Given the description of an element on the screen output the (x, y) to click on. 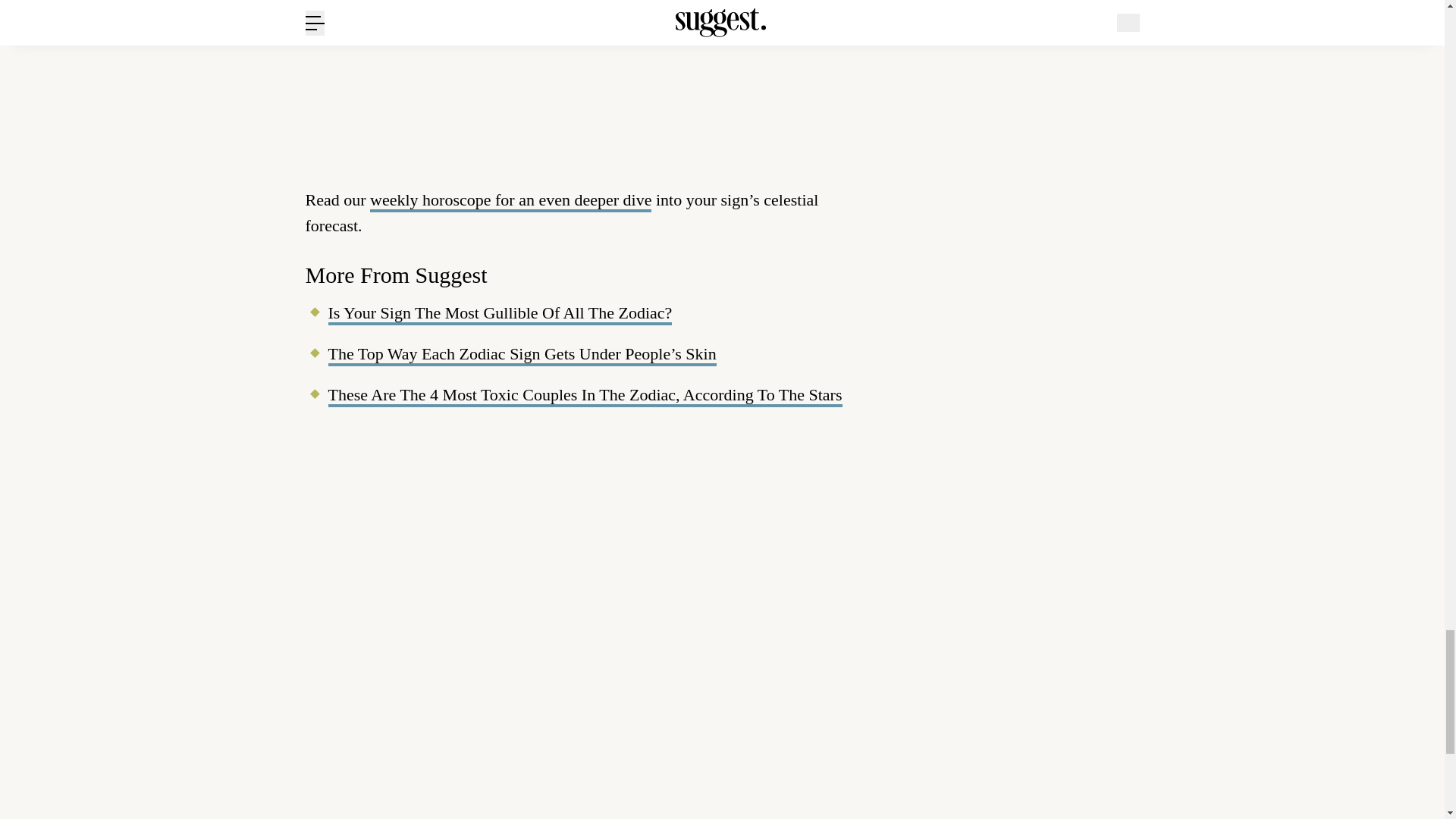
weekly horoscope for an even deeper dive (509, 201)
Is Your Sign The Most Gullible Of All The Zodiac? (499, 314)
